Given the description of an element on the screen output the (x, y) to click on. 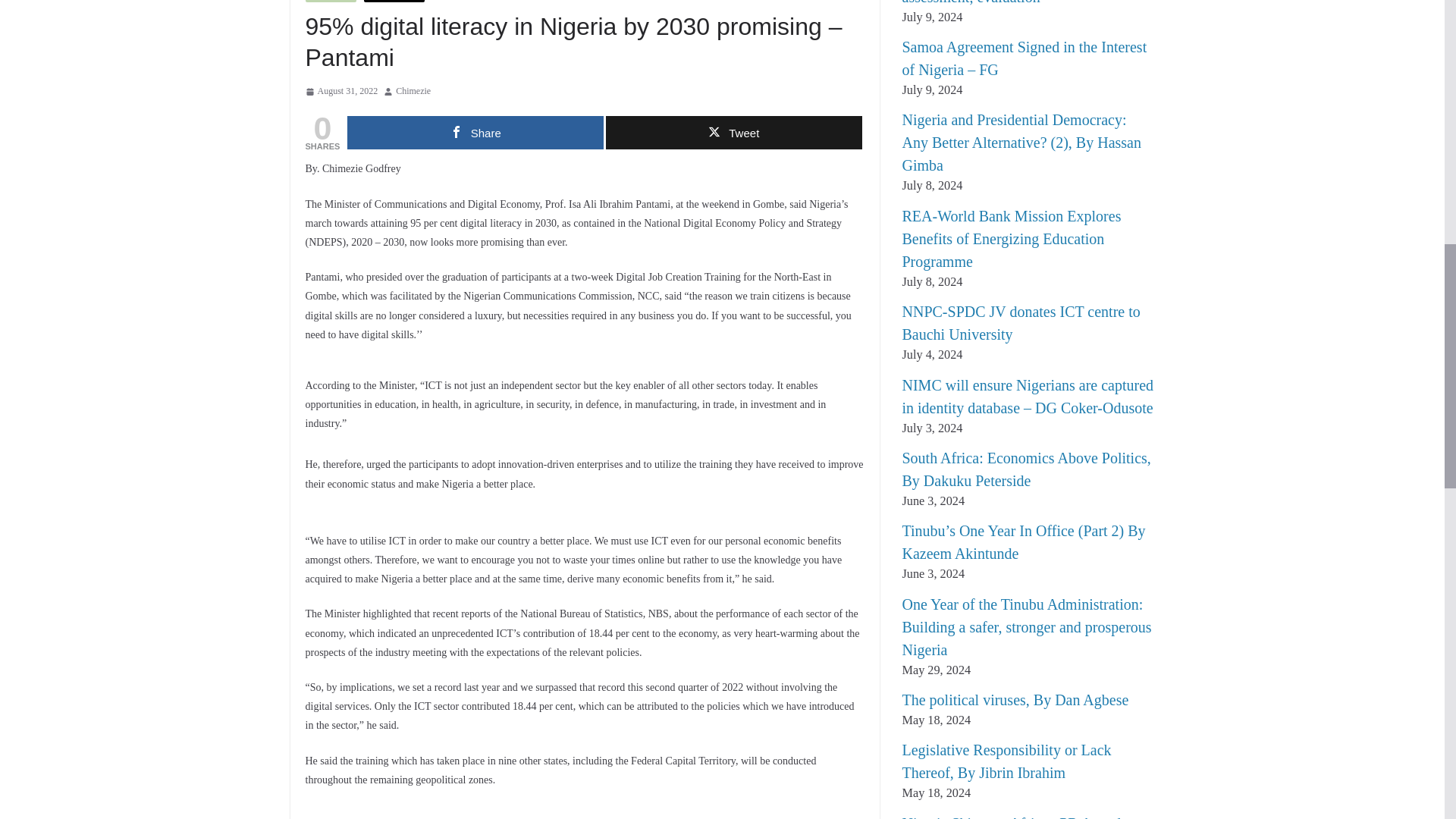
Chimezie (413, 91)
FEATURED (329, 1)
Tweet (733, 132)
9:58 pm (340, 91)
Chimezie (413, 91)
Share (475, 132)
NEWS TREND (394, 1)
August 31, 2022 (340, 91)
